Given the description of an element on the screen output the (x, y) to click on. 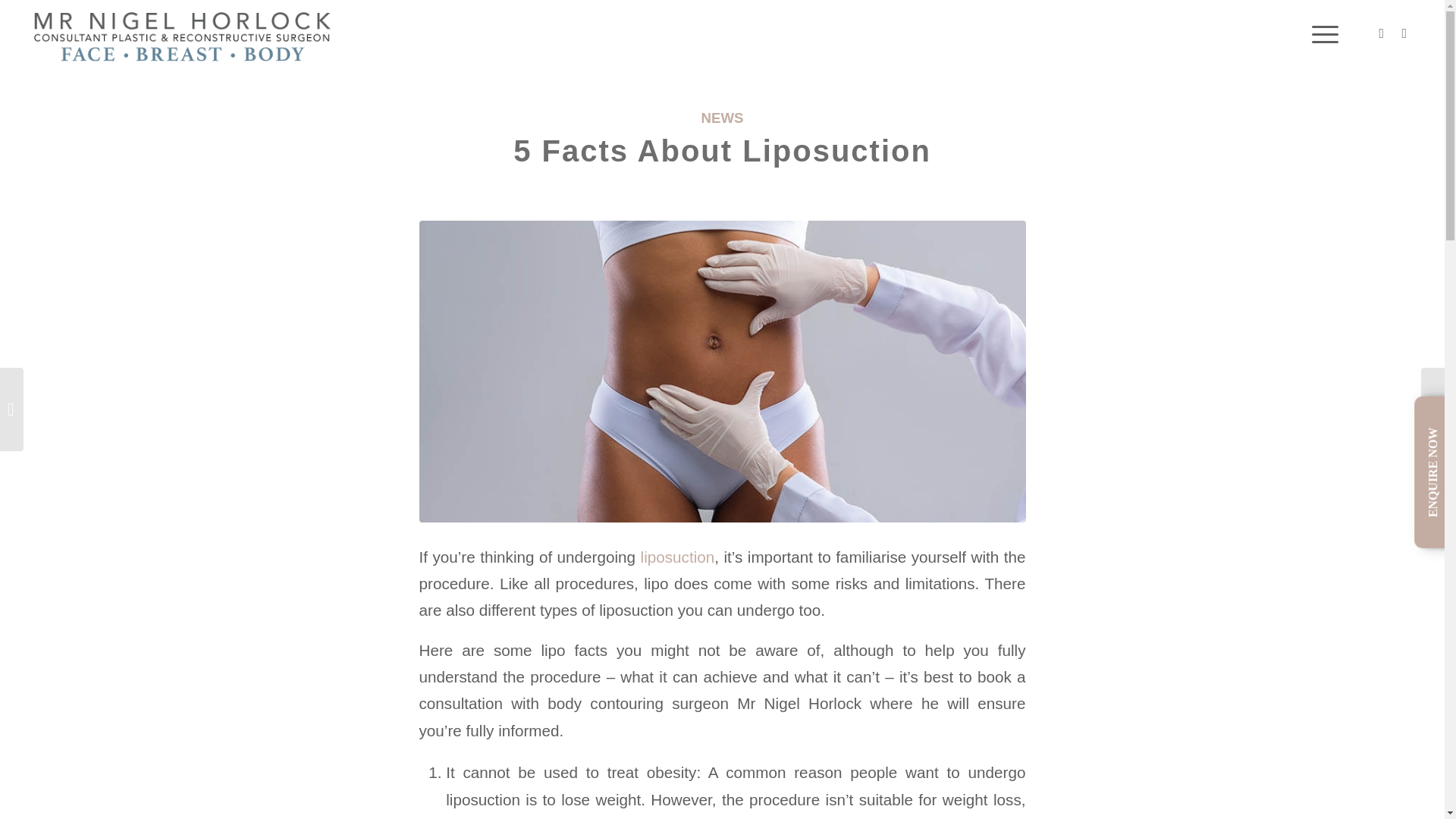
Mail (1404, 33)
NEWS (722, 117)
liposuction (677, 556)
5 Facts About Liposuction (722, 150)
Facebook (1381, 33)
Permanent Link: 5 Facts About Liposuction (722, 150)
